Given the description of an element on the screen output the (x, y) to click on. 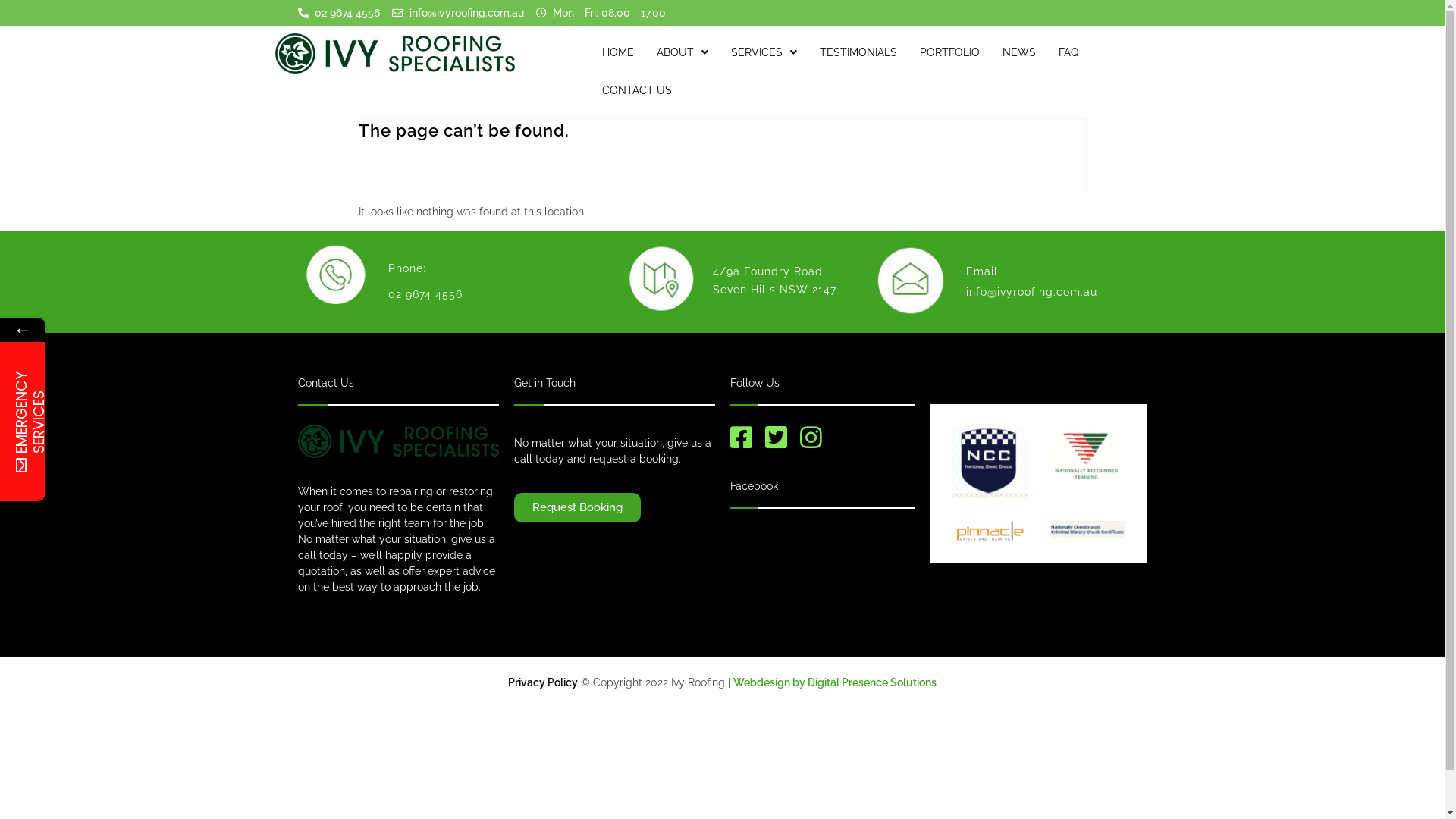
Submit Element type: text (201, 624)
02 9674 4556 Element type: text (338, 12)
ABOUT Element type: text (682, 52)
FAQ Element type: text (1068, 52)
HOME Element type: text (617, 52)
CONTACT US Element type: text (636, 90)
SERVICES Element type: text (763, 52)
Privacy Policy Element type: text (542, 682)
NEWS Element type: text (1019, 52)
Request Booking Element type: text (577, 507)
TESTIMONIALS Element type: text (858, 52)
info@ivyroofing.com.au Element type: text (1031, 291)
info@ivyroofing.com.au Element type: text (458, 12)
fb:page Facebook Social Plugin Element type: hover (822, 576)
PORTFOLIO Element type: text (949, 52)
Webdesign by Digital Presence Solutions Element type: text (834, 682)
02 9674 4556 Element type: text (425, 294)
